Given the description of an element on the screen output the (x, y) to click on. 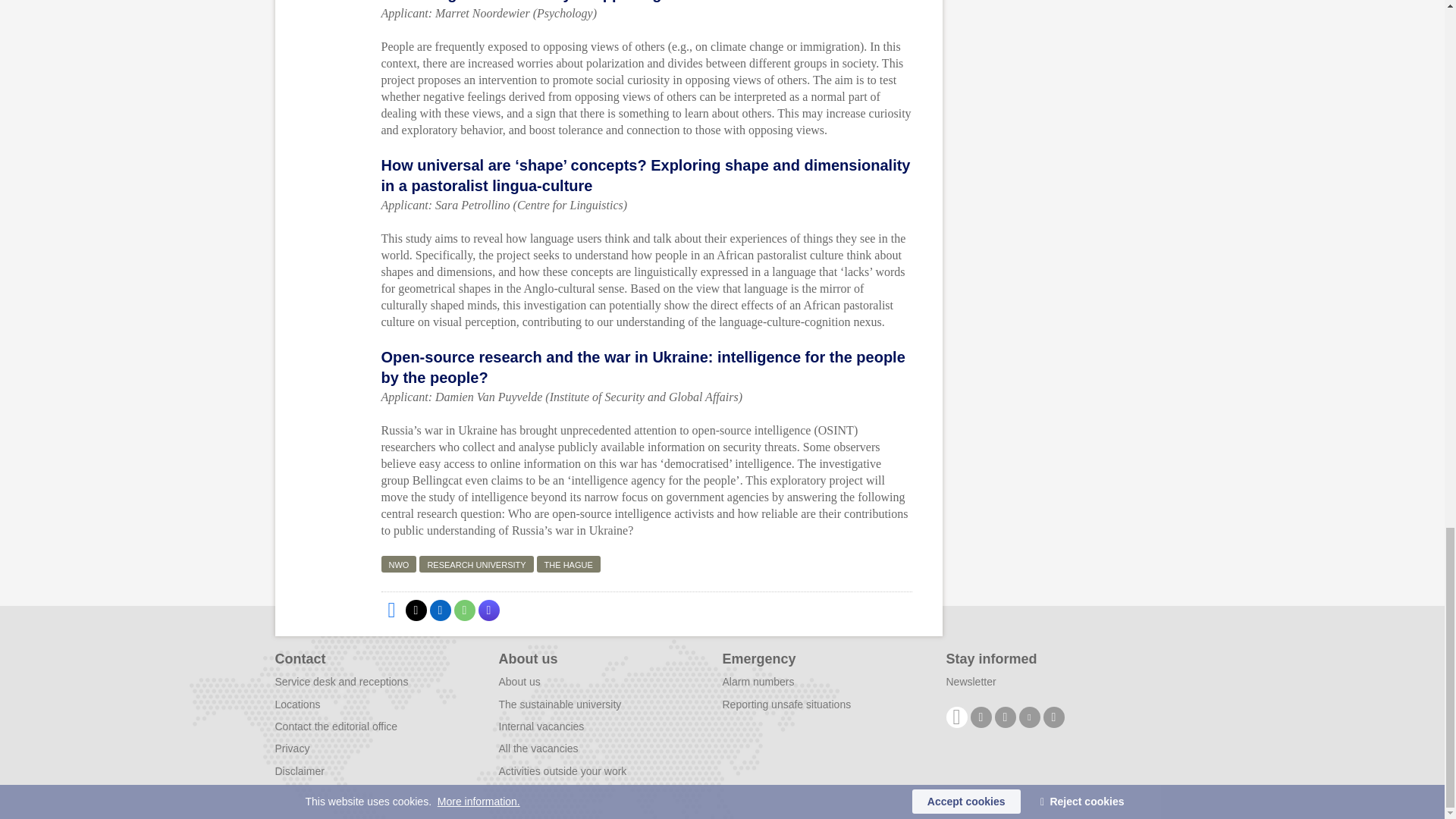
Share by Mastodon (488, 609)
Share on LinkedIn (439, 609)
Share by WhatsApp (463, 609)
Share on Facebook (390, 609)
Share on X (415, 609)
